Given the description of an element on the screen output the (x, y) to click on. 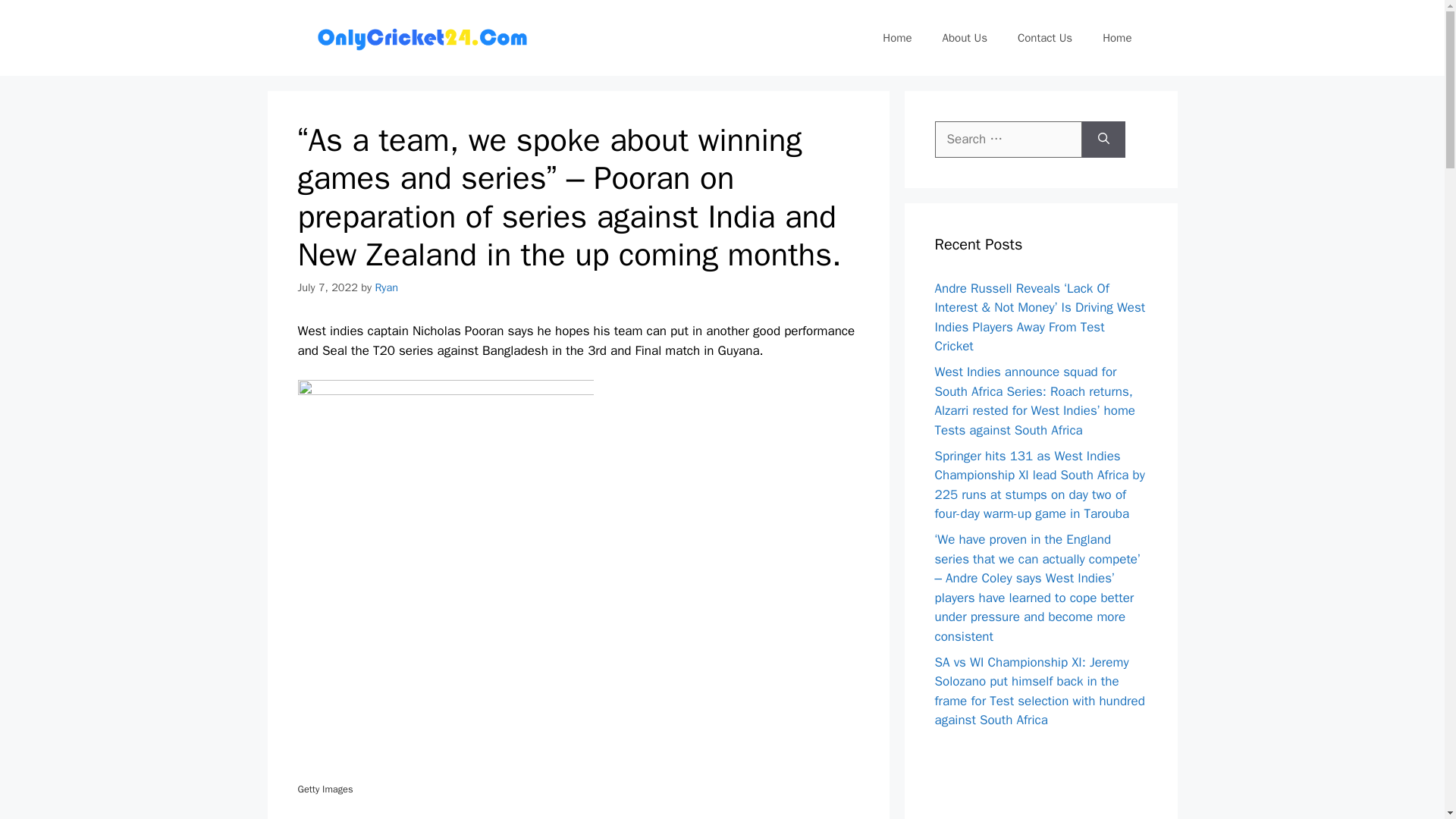
About Us (965, 37)
Contact Us (1045, 37)
Home (896, 37)
Ryan (385, 287)
Search for: (1007, 139)
View all posts by Ryan (385, 287)
Home (1117, 37)
Advertisement (1040, 778)
